Given the description of an element on the screen output the (x, y) to click on. 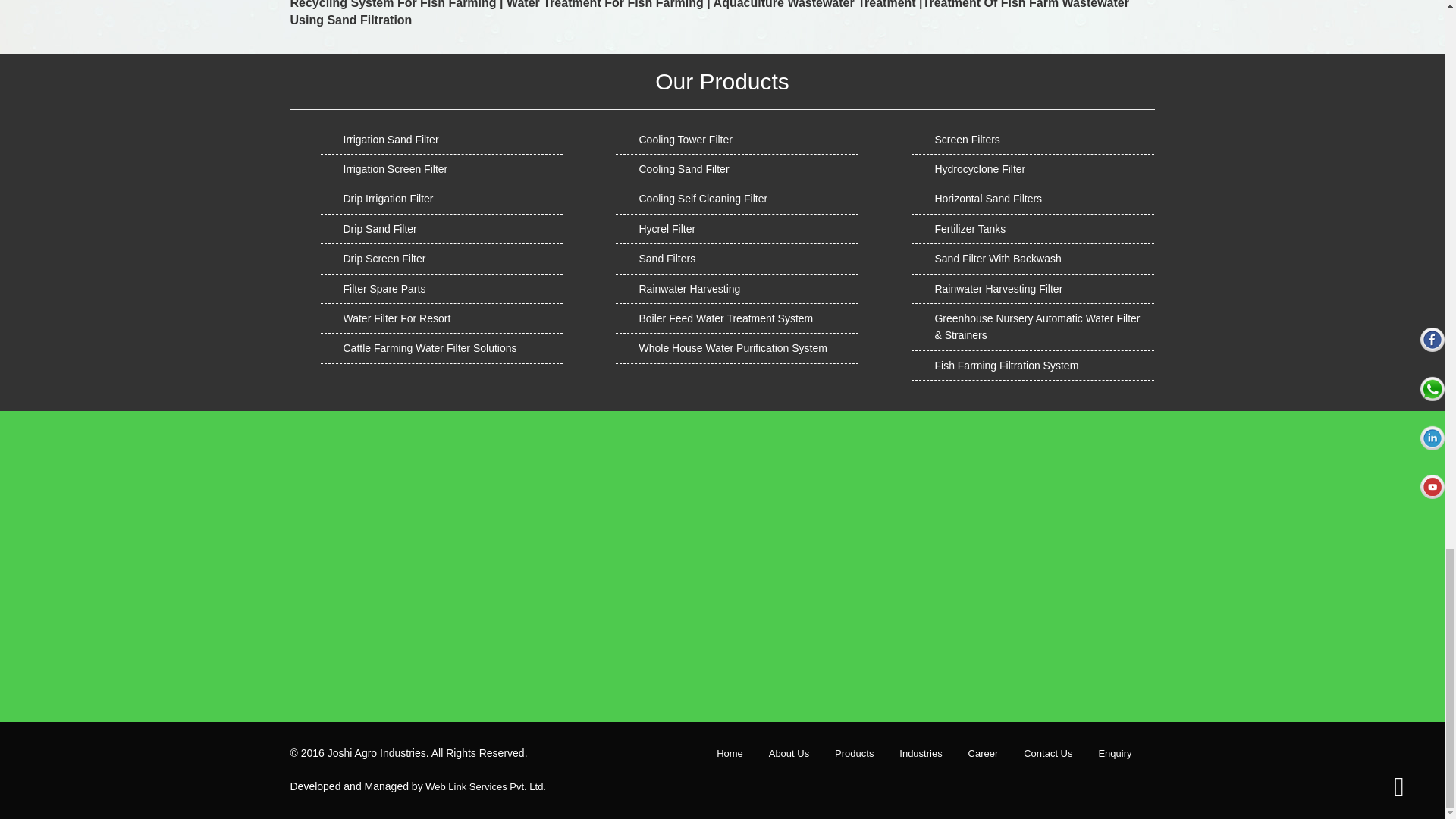
Web Link Services Pvt. Ltd. (484, 786)
